Given the description of an element on the screen output the (x, y) to click on. 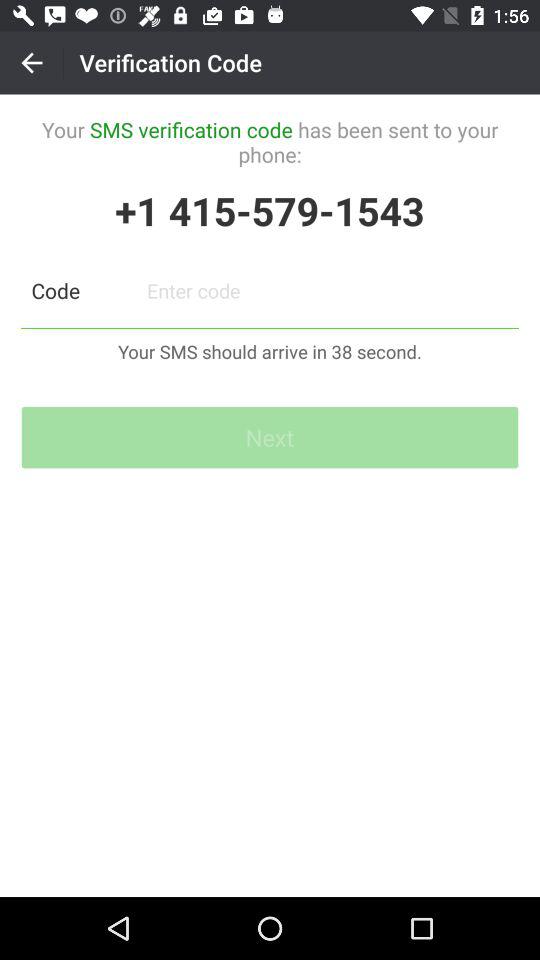
enter verification code (327, 290)
